Given the description of an element on the screen output the (x, y) to click on. 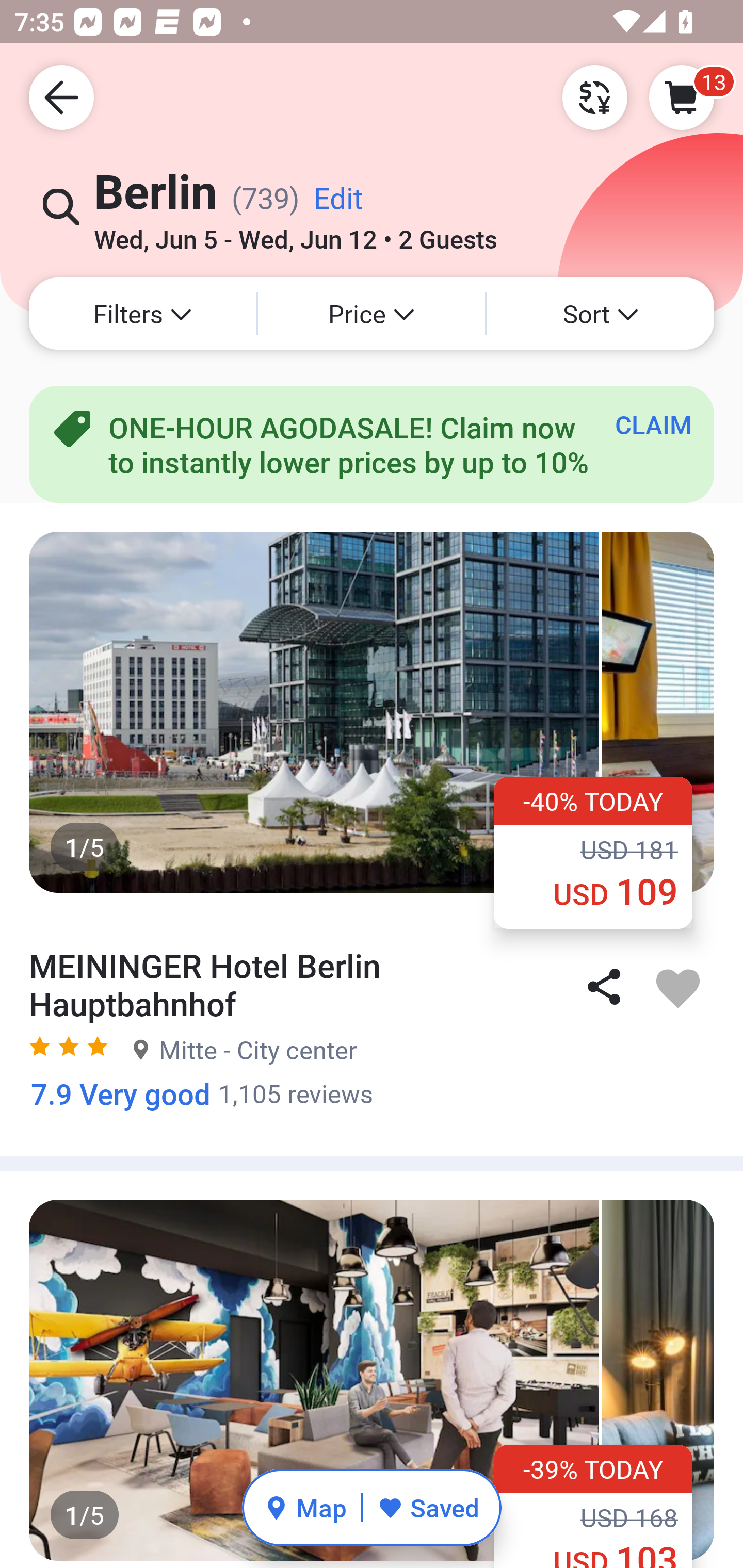
Filters (141, 313)
Price (371, 313)
Sort (600, 313)
CLAIM (653, 424)
1/5 (371, 711)
-40% TODAY ‪USD 181 ‪USD 109 (593, 852)
1/5 (371, 1379)
-39% TODAY ‪USD 168 ‪USD 103 (593, 1506)
Map (305, 1507)
Saved (428, 1507)
